Given the description of an element on the screen output the (x, y) to click on. 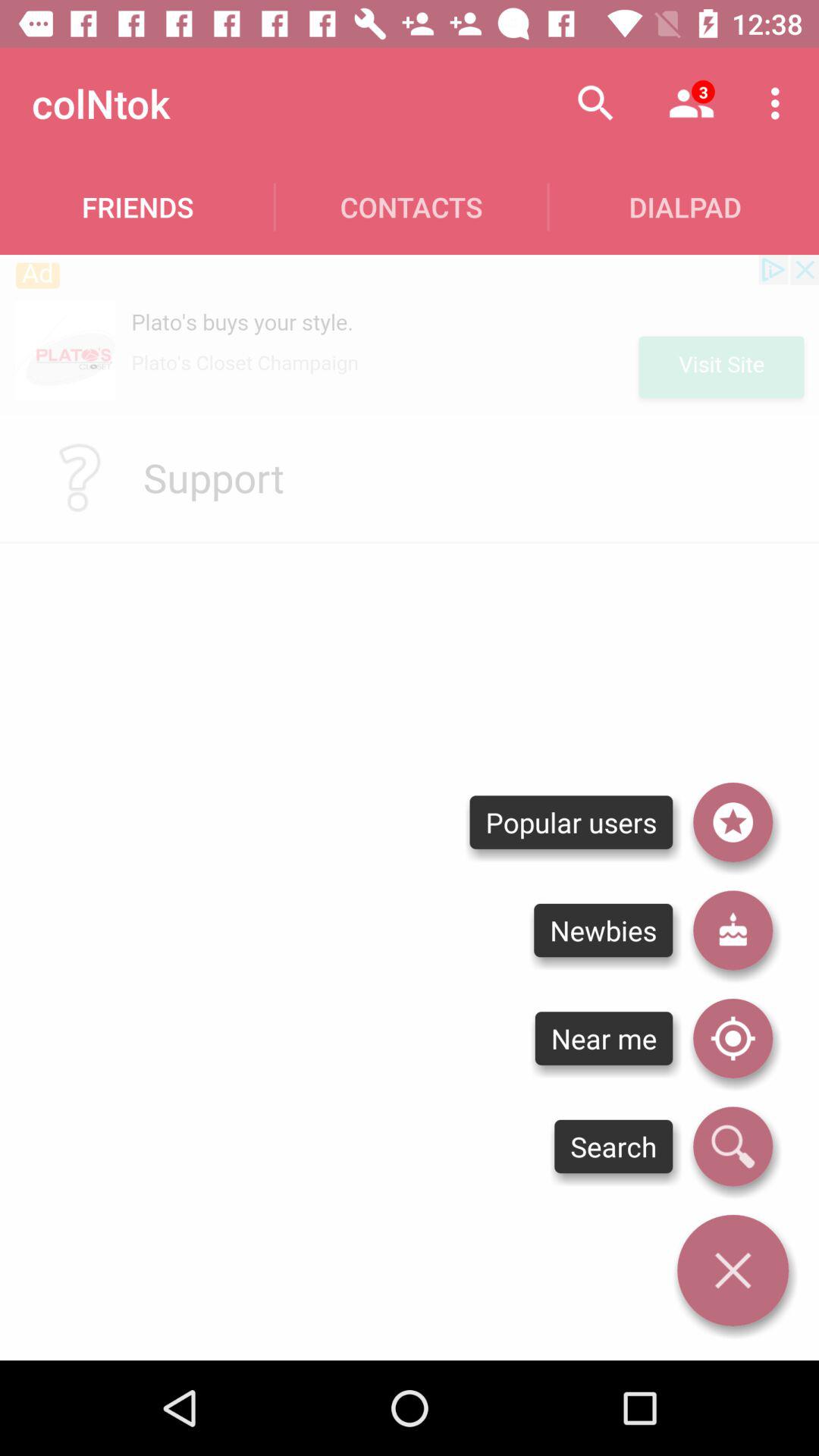
see places close by (733, 1038)
